Given the description of an element on the screen output the (x, y) to click on. 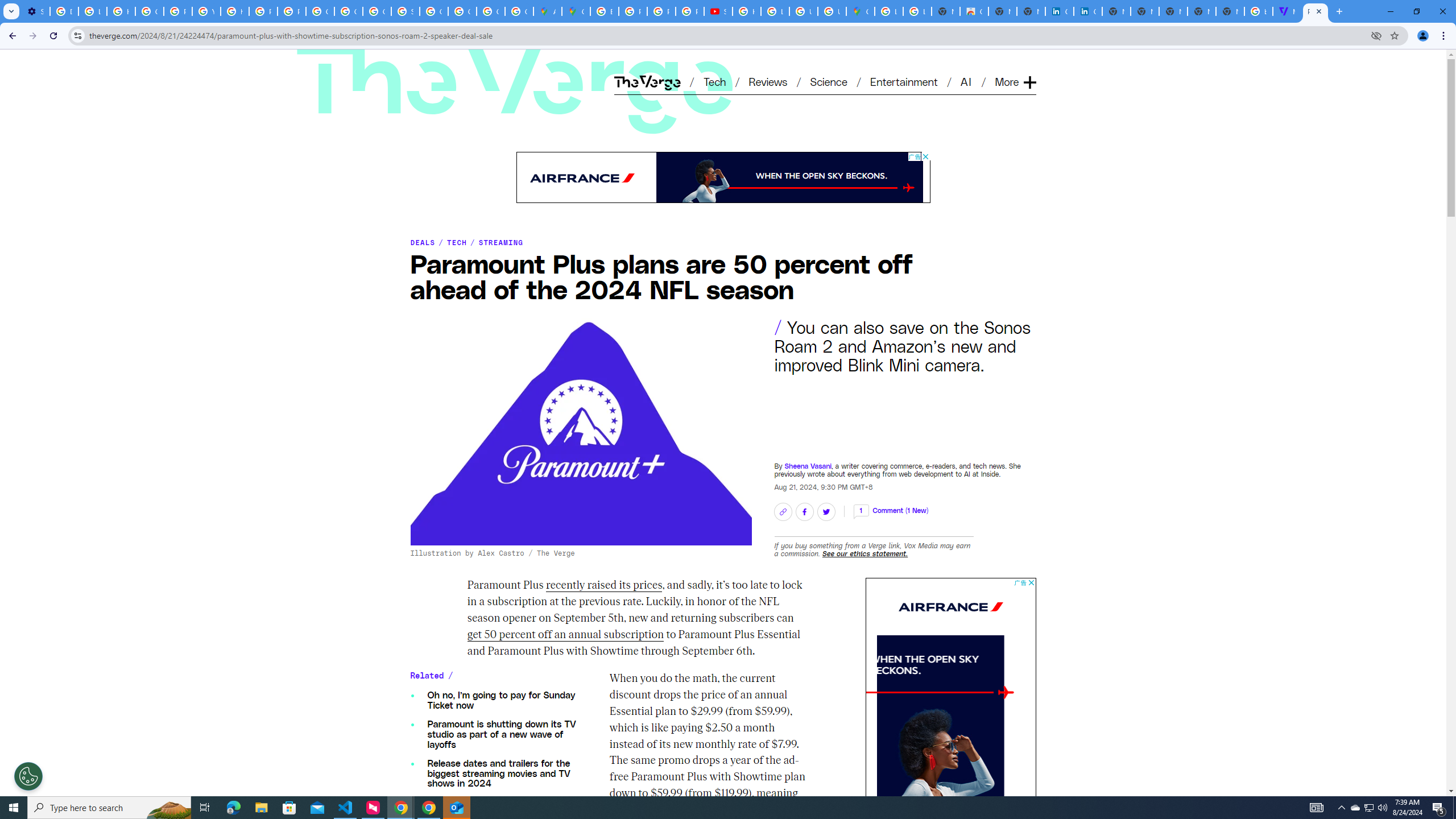
YouTube (206, 11)
AutomationID: cbb (1030, 582)
Settings - Customize profile (35, 11)
Google Maps (575, 11)
Science (828, 81)
Privacy Help Center - Policies Help (263, 11)
Google Maps (860, 11)
